Given the description of an element on the screen output the (x, y) to click on. 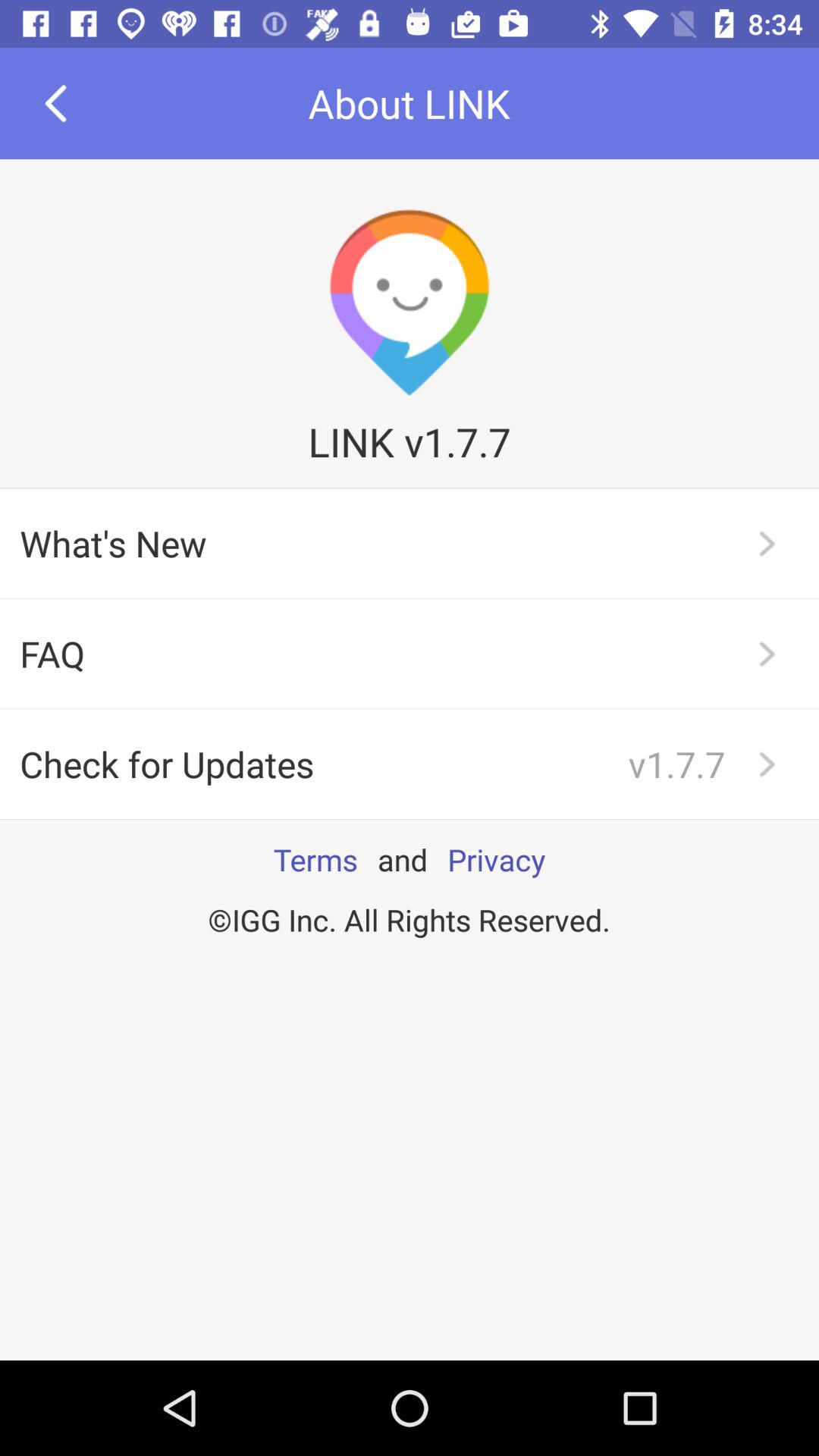
click the faq icon (409, 653)
